Given the description of an element on the screen output the (x, y) to click on. 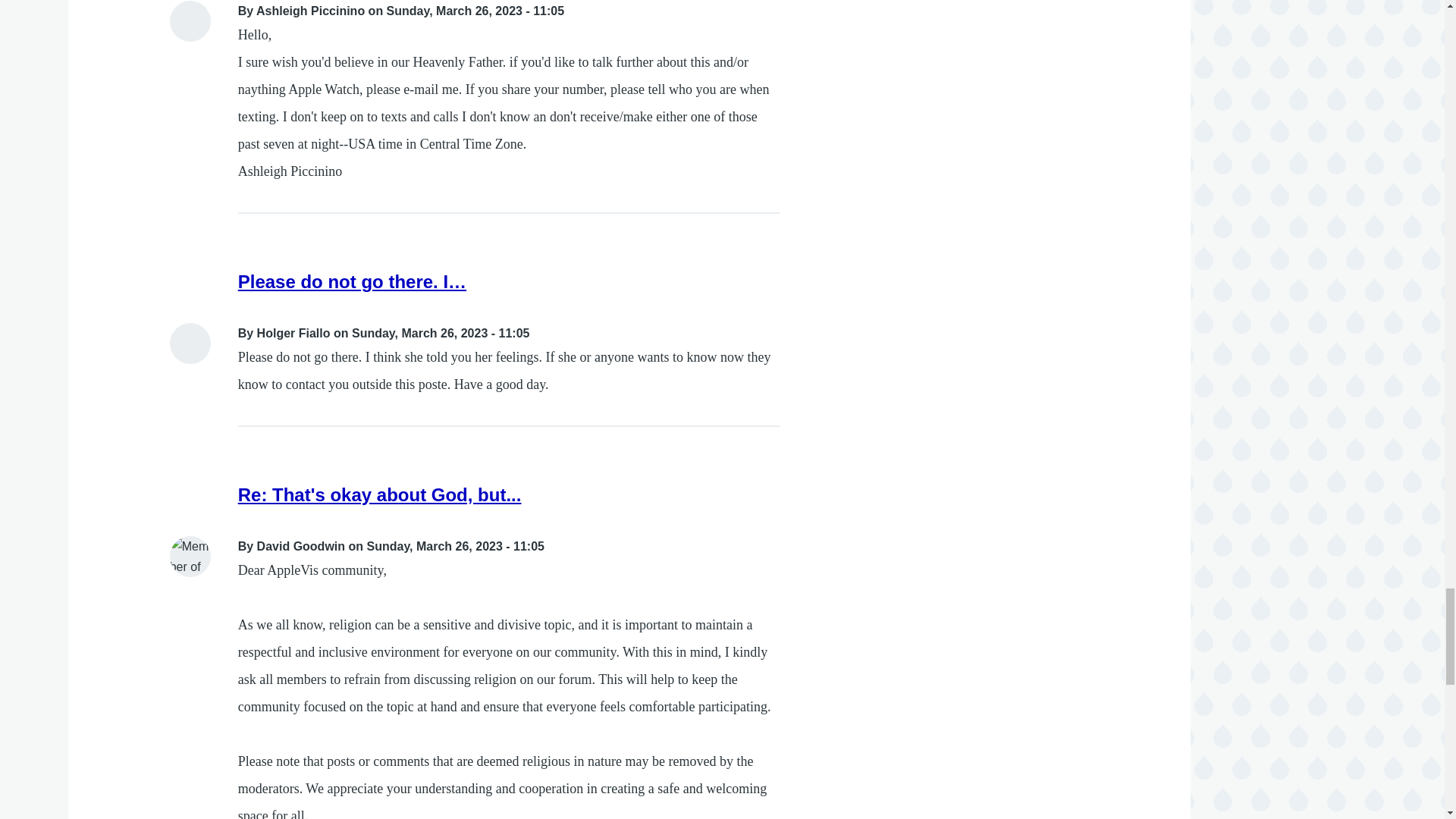
Re: That's okay about God, but... (379, 494)
